Given the description of an element on the screen output the (x, y) to click on. 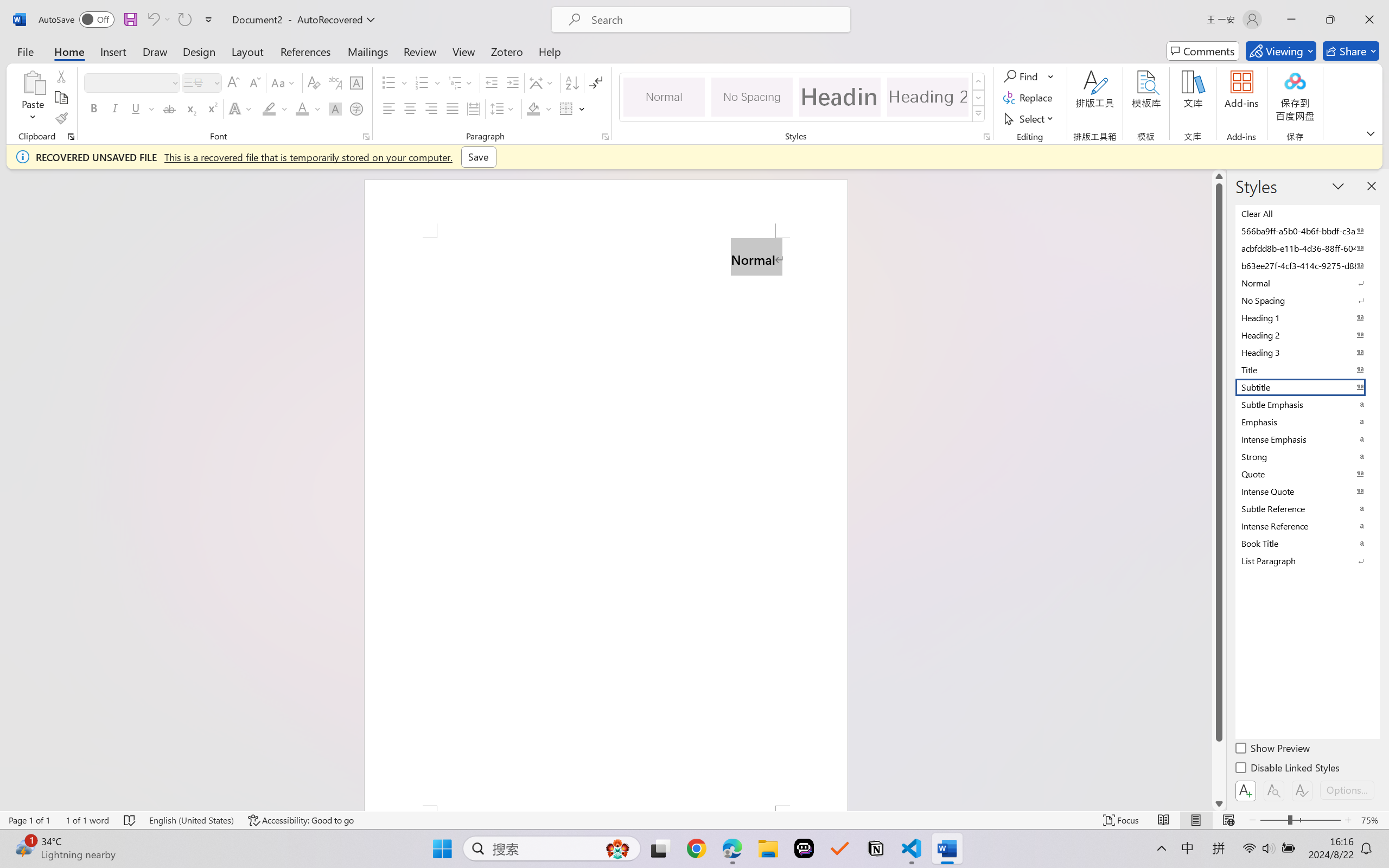
Class: NetUIButton (1301, 790)
Phonetic Guide... (334, 82)
Show Preview (1273, 749)
Strong (1306, 456)
Shading RGB(0, 0, 0) (533, 108)
Office Clipboard... (70, 136)
Normal (1306, 282)
